Given the description of an element on the screen output the (x, y) to click on. 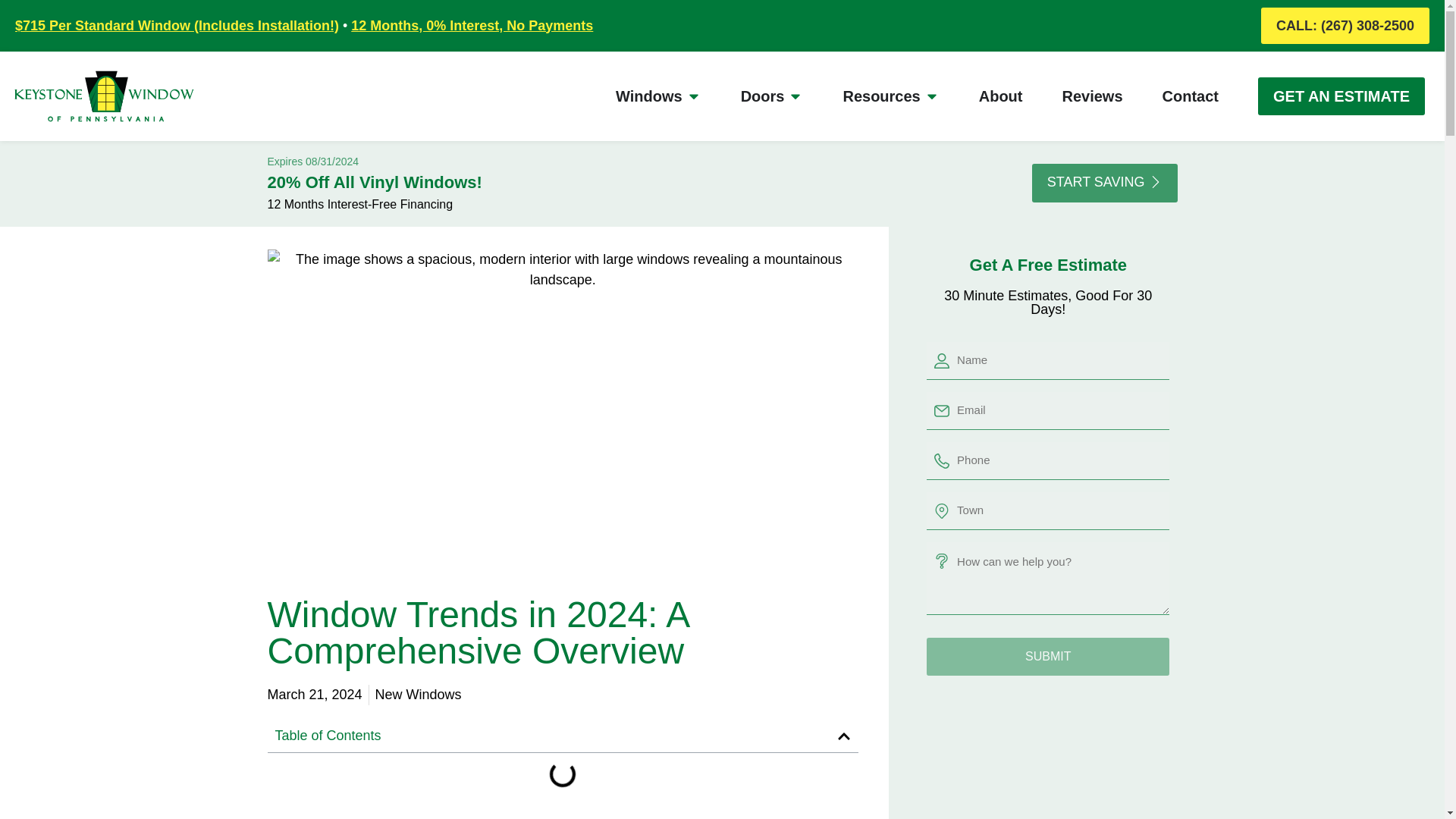
GET AN ESTIMATE (1341, 95)
Reviews (1091, 96)
About (1000, 96)
Windows (648, 96)
Submit (1047, 656)
Doors (762, 96)
Contact (1189, 96)
